Given the description of an element on the screen output the (x, y) to click on. 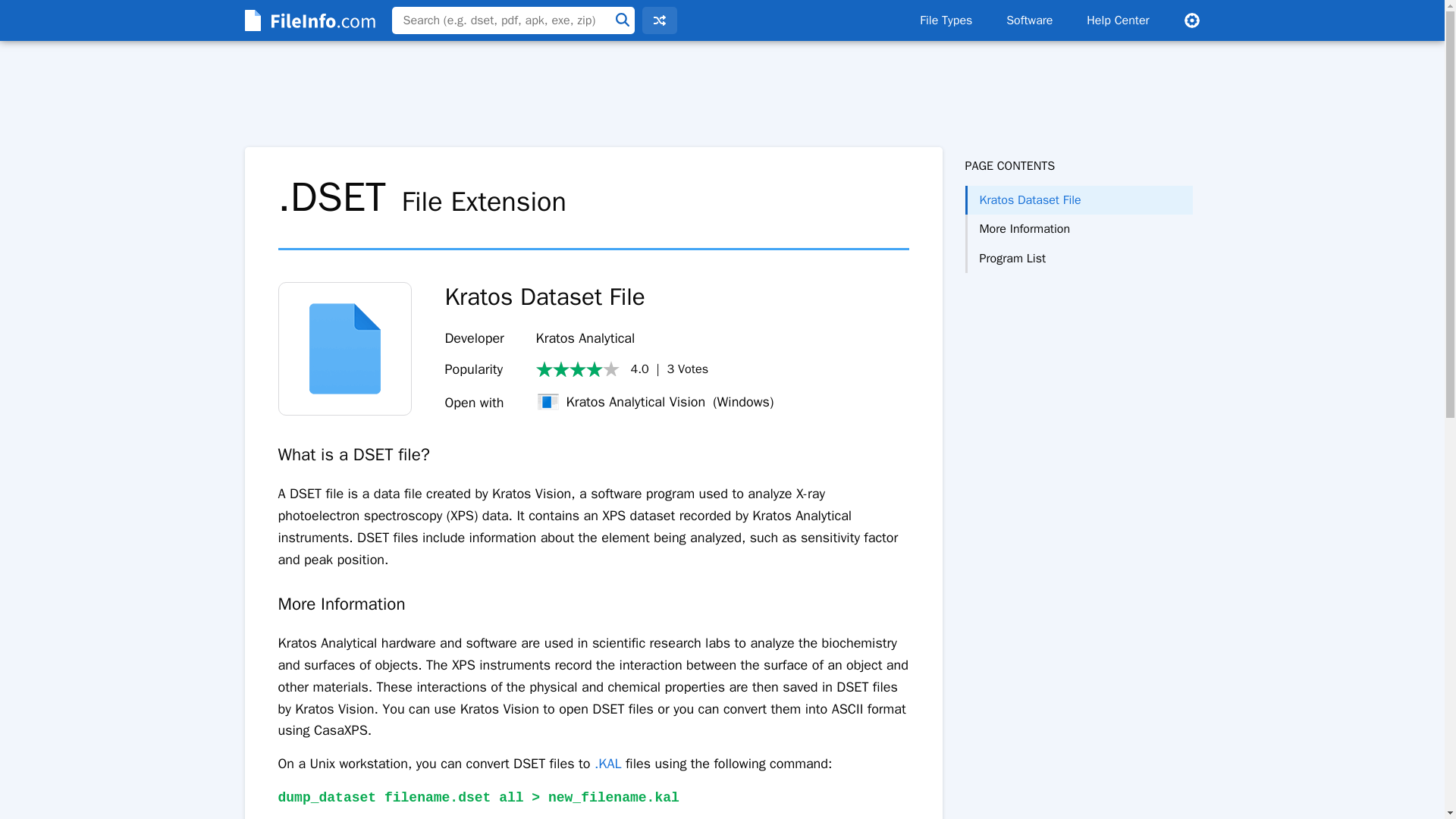
Document Icon (344, 348)
FileInfo (307, 20)
Program List (1077, 258)
Settings (1190, 20)
.KAL (607, 763)
Software (1029, 20)
Kratos Dataset File (1077, 199)
Random (659, 20)
More Information (1077, 228)
Help Center (1117, 20)
File Types (945, 20)
